Given the description of an element on the screen output the (x, y) to click on. 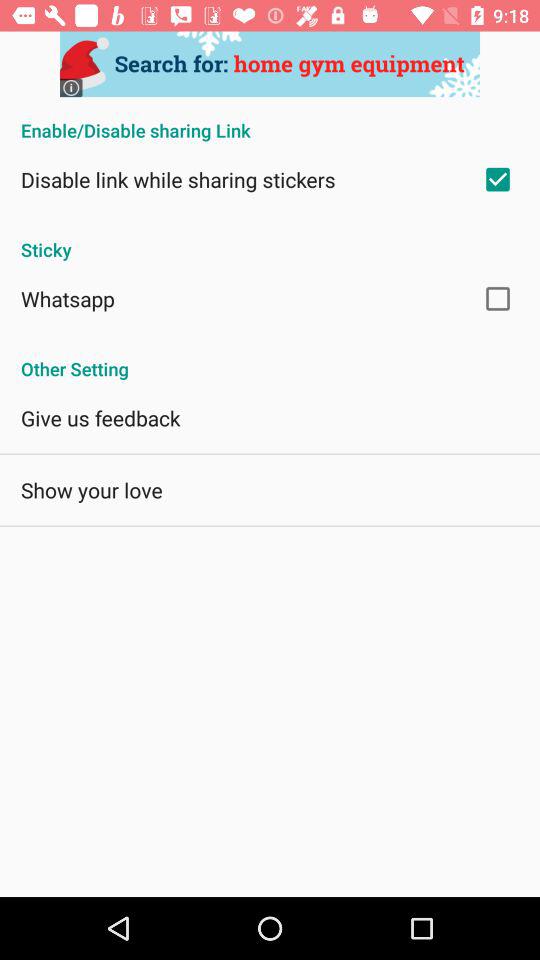
share the artcle (270, 64)
